Given the description of an element on the screen output the (x, y) to click on. 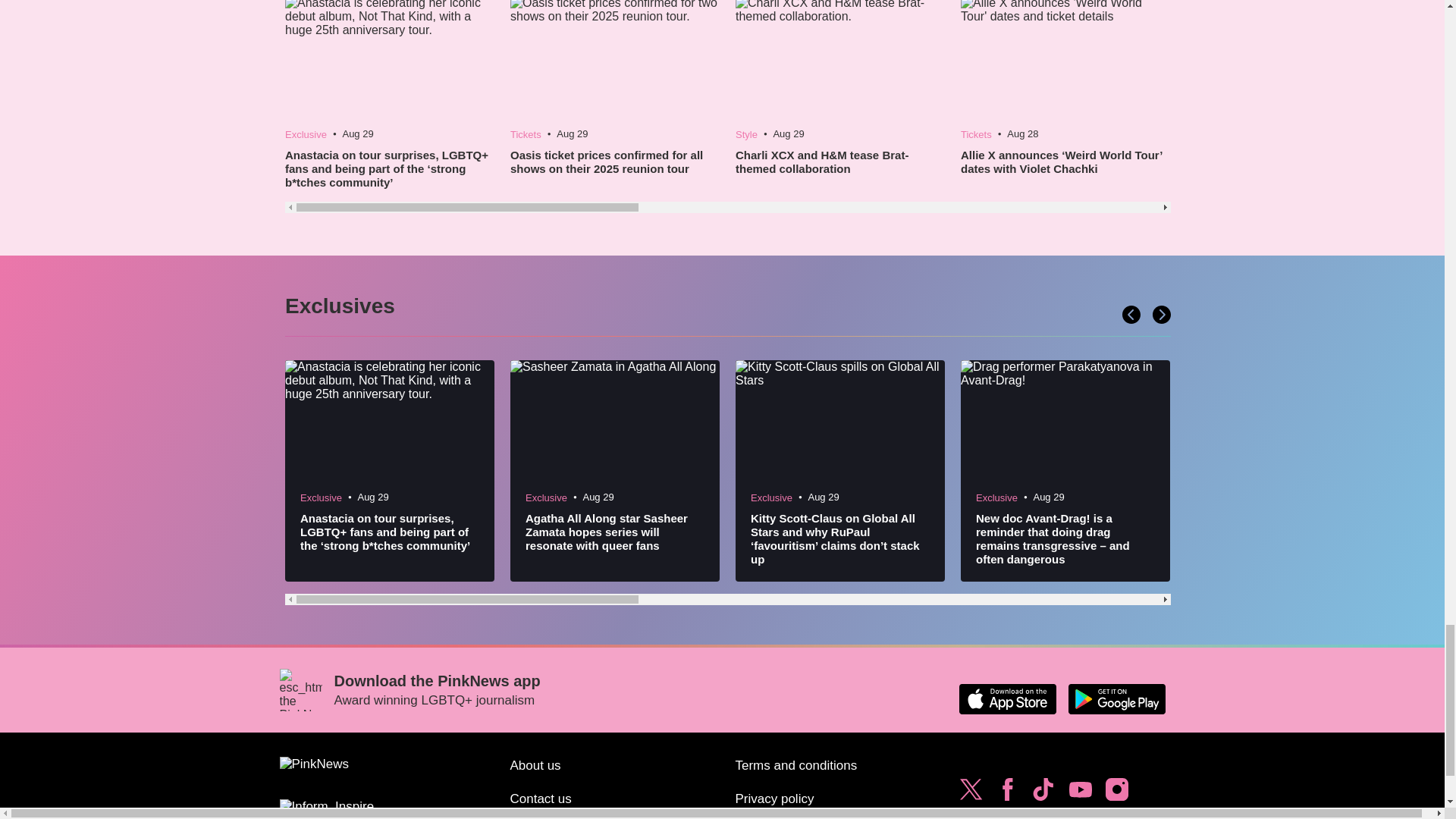
Subscribe to PinkNews on YouTube (1079, 792)
Subscribe to PinkNews on Snapchat (970, 815)
Follow PinkNews on TikTok (1042, 792)
Follow PinkNews on Twitter (970, 792)
Follow PinkNews on LinkedIn (1007, 815)
Download the PinkNews app on the Apple App Store (1006, 698)
Download the PinkNews app on Google Play (1115, 698)
Follow PinkNews on Instagram (1116, 792)
